Given the description of an element on the screen output the (x, y) to click on. 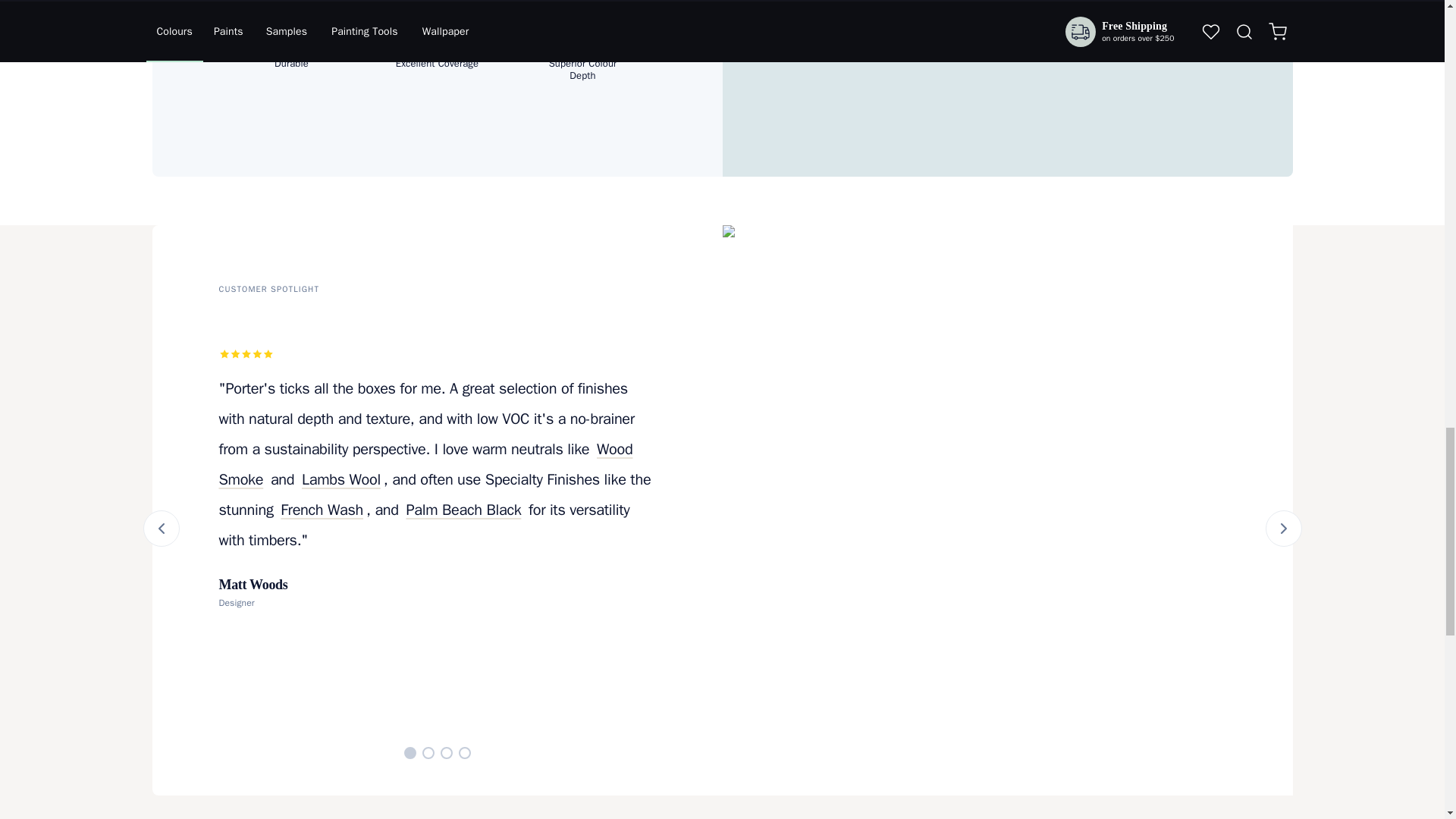
French Wash (322, 509)
Wood Smoke (424, 463)
Lambs Wool (341, 479)
